Given the description of an element on the screen output the (x, y) to click on. 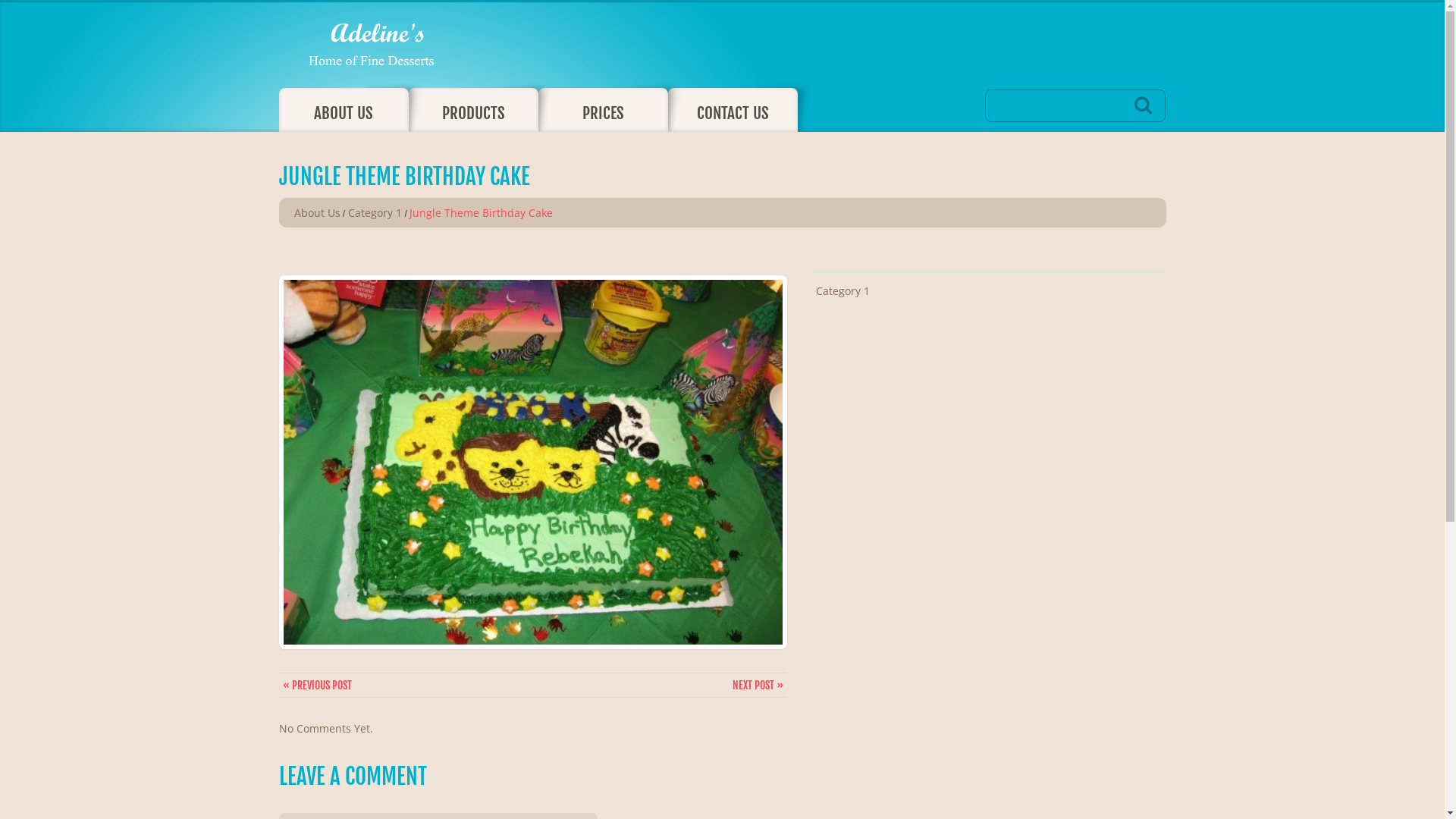
ABOUT US Element type: text (343, 109)
CONTACT US Element type: text (732, 109)
PRODUCTS Element type: text (472, 109)
About Us Element type: text (317, 212)
Category 1 Element type: text (374, 212)
Category 1 Element type: text (842, 290)
PRICES Element type: text (603, 109)
